Given the description of an element on the screen output the (x, y) to click on. 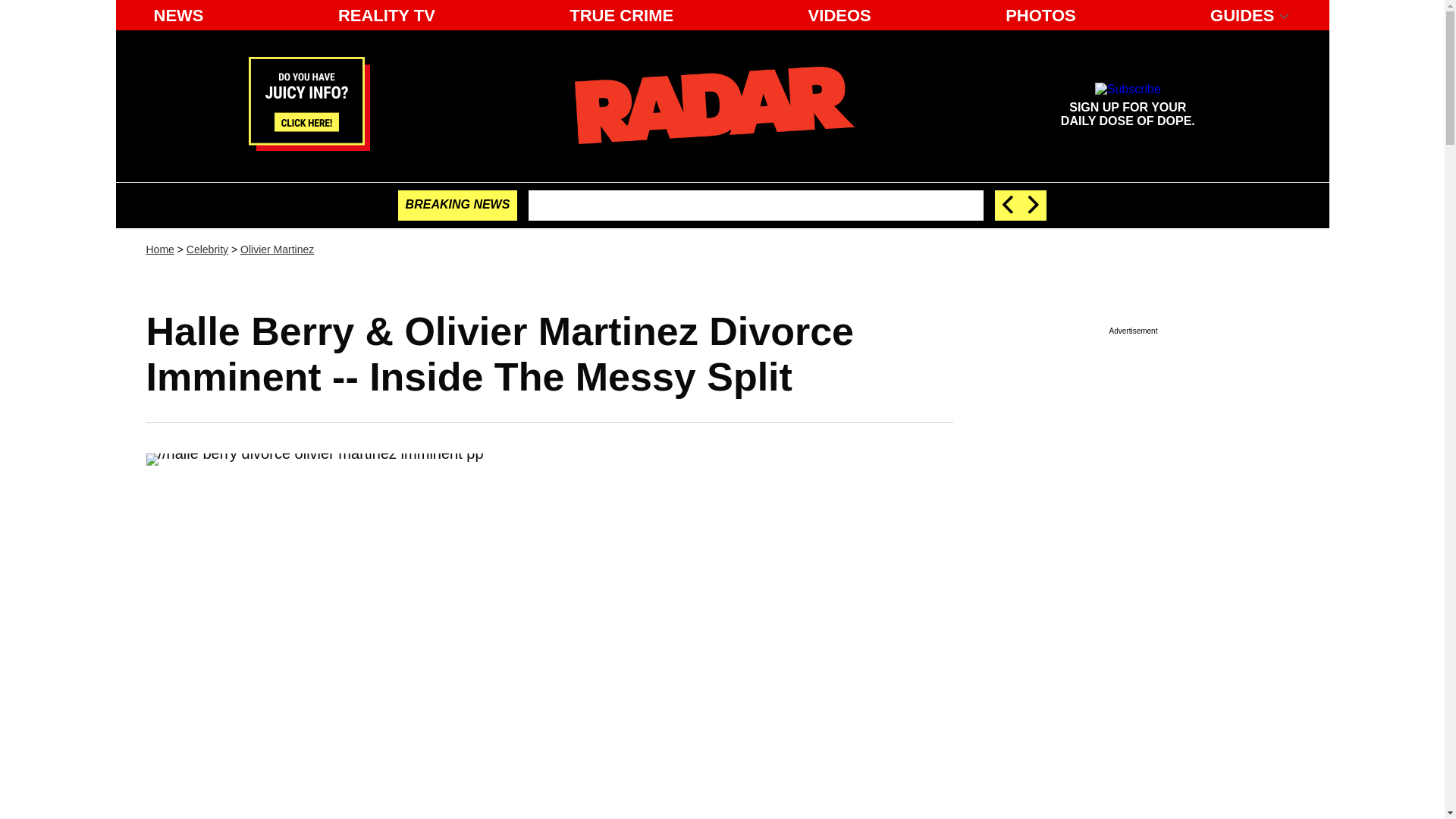
REALITY TV (386, 15)
Sign up for your daily dose of dope. (1127, 104)
TRUE CRIME (621, 15)
NEWS (178, 15)
Olivier Martinez (277, 249)
VIDEOS (1127, 104)
Radar Online (839, 15)
Celebrity (714, 105)
PHOTOS (207, 249)
